Given the description of an element on the screen output the (x, y) to click on. 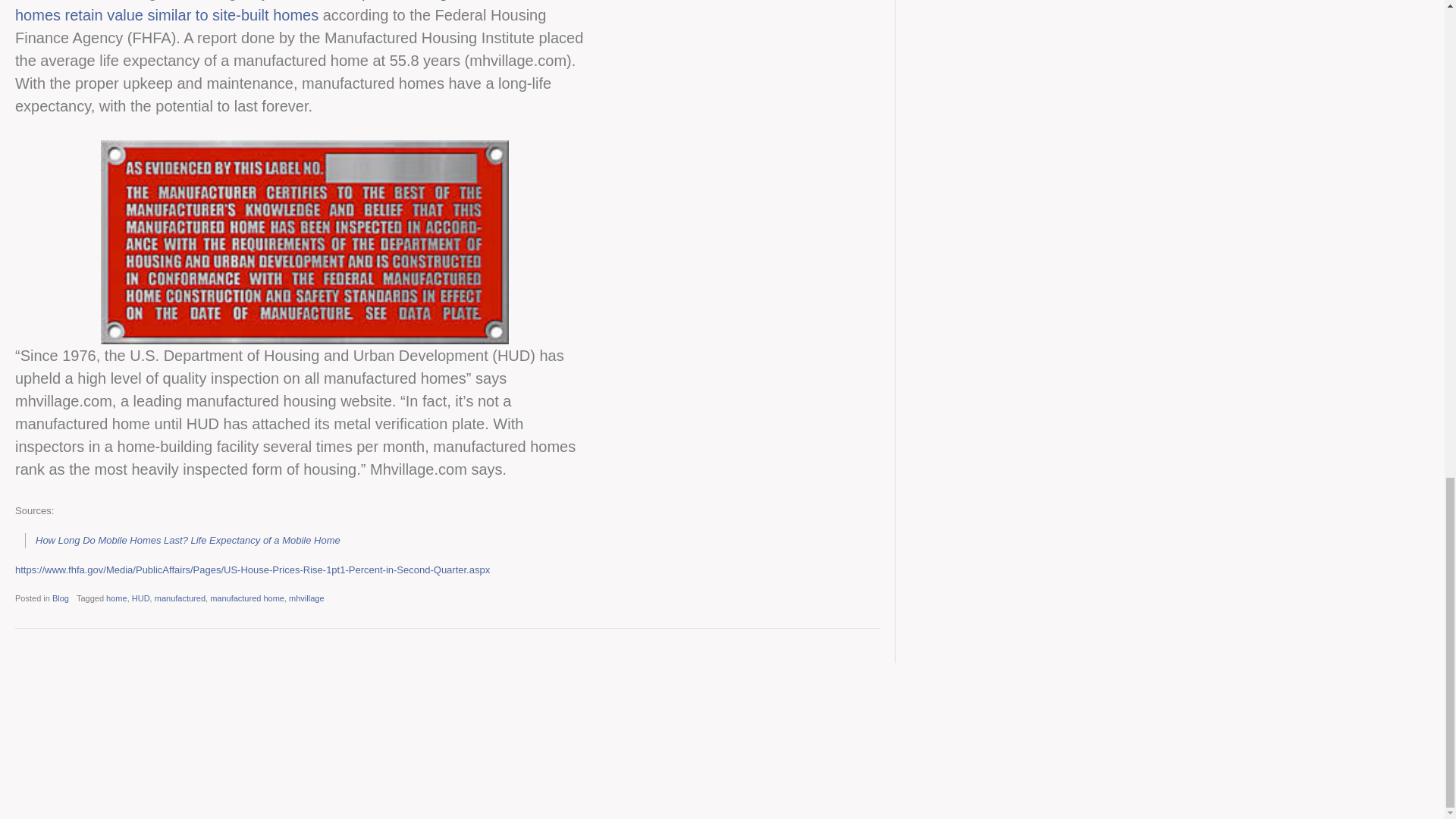
mhvillage (305, 597)
manufactured (179, 597)
HUD (140, 597)
home (117, 597)
Blog (60, 597)
manufactured home (246, 597)
